Given the description of an element on the screen output the (x, y) to click on. 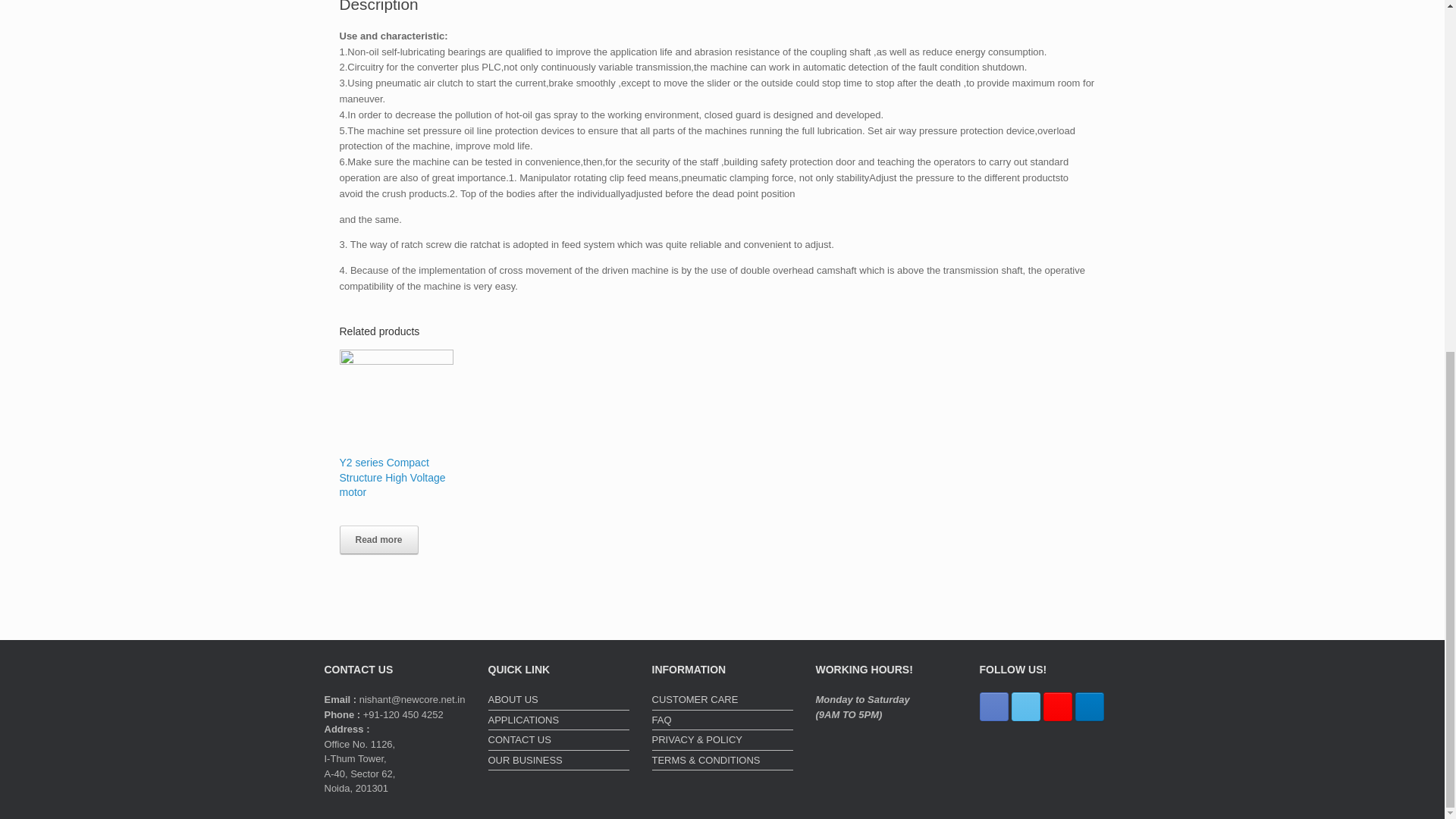
NEWCORE GLOBAL PVT. LTD Google Plus (1057, 706)
NEWCORE GLOBAL PVT. LTD Twitter (1026, 706)
NEWCORE GLOBAL PVT. LTD LinkedIn (1089, 706)
Read more (379, 539)
NEWCORE GLOBAL PVT. LTD Facebook (994, 706)
Y2 series Compact Structure High Voltage motor (395, 447)
